Given the description of an element on the screen output the (x, y) to click on. 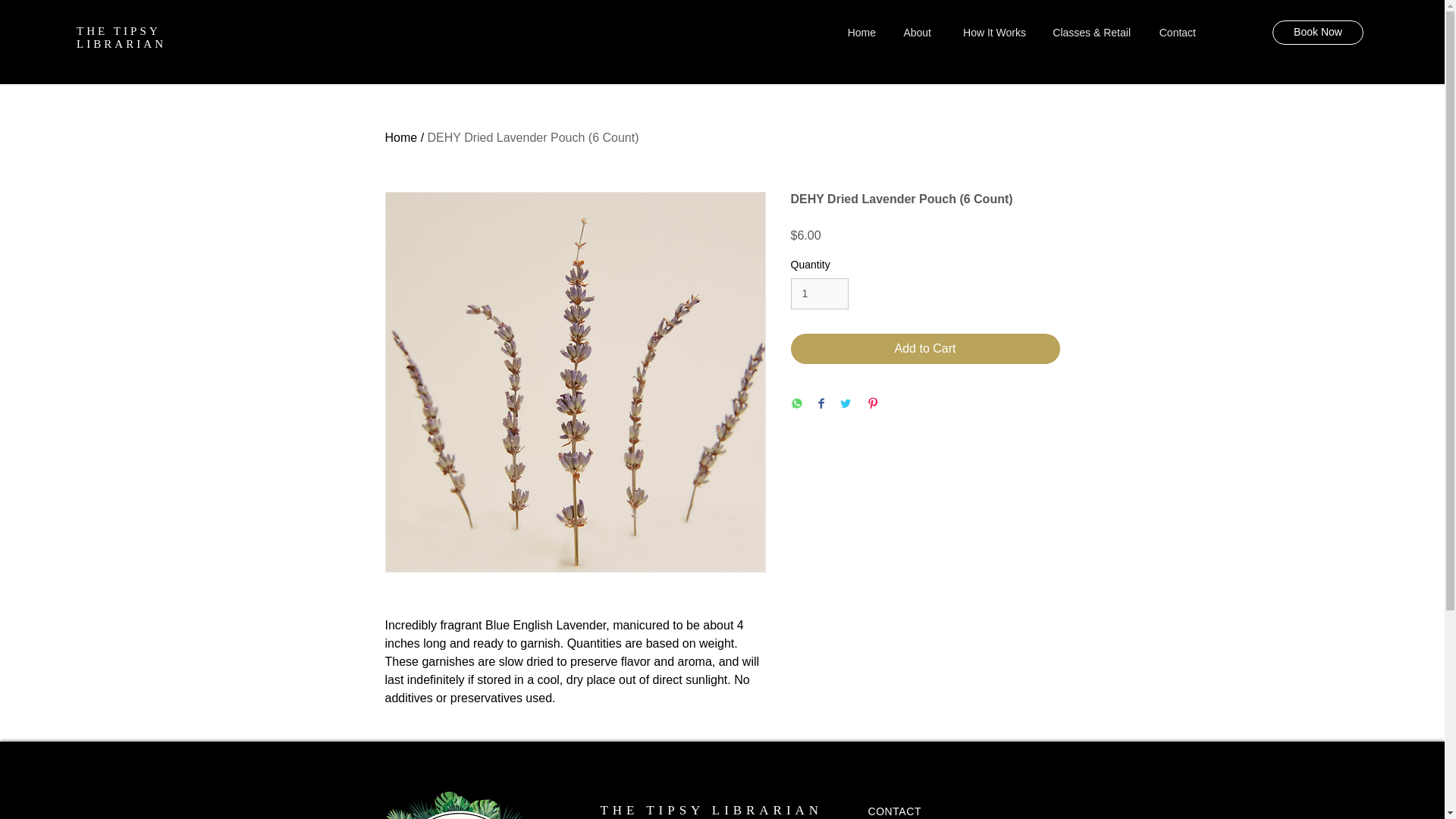
Contact (1174, 32)
About (914, 32)
Add to Cart (924, 348)
THE TIPSY LIBRARIAN (121, 37)
Book Now (1317, 32)
How It Works (989, 32)
Home (401, 137)
THE TIPSY LIBRARIAN (710, 810)
CONTACT (894, 811)
1 (818, 293)
